Given the description of an element on the screen output the (x, y) to click on. 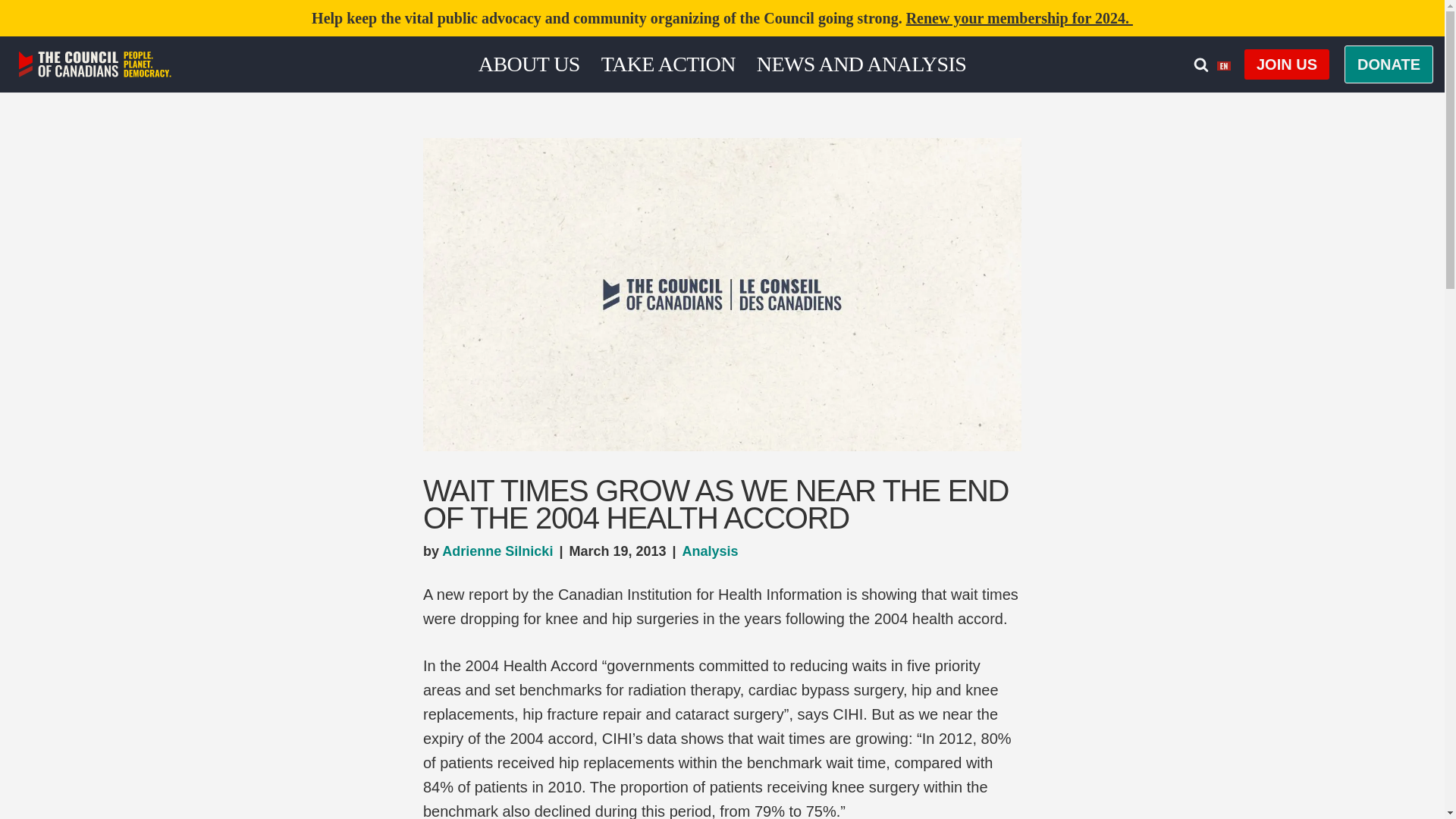
Adrienne Silnicki (497, 550)
NEWS AND ANALYSIS (861, 63)
DONATE (1387, 64)
JOIN US (1286, 64)
ABOUT US (529, 63)
Posts by Adrienne Silnicki (497, 550)
Renew your membership for 2024.  (1018, 17)
Skip to content (11, 31)
Analysis (710, 550)
TAKE ACTION (668, 63)
